Given the description of an element on the screen output the (x, y) to click on. 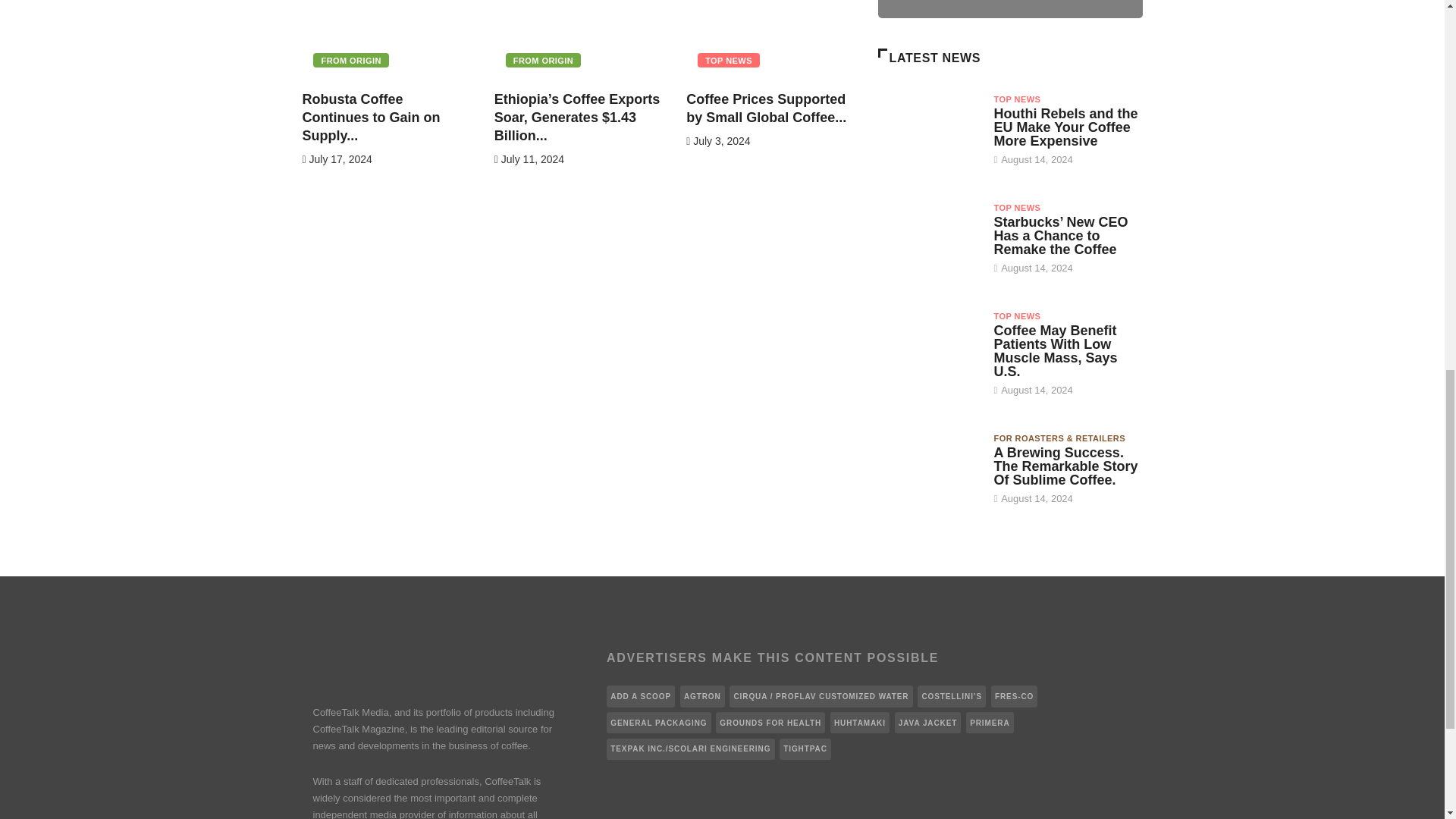
A Brewing Success. The Remarkable Story Of Sublime Coffee. (1064, 466)
Houthi Rebels and the EU Make Your Coffee More Expensive (1064, 127)
Houthi Rebels and the EU Make Your Coffee More Expensive (927, 130)
A Brewing Success. The Remarkable Story Of Sublime Coffee. (927, 469)
